Given the description of an element on the screen output the (x, y) to click on. 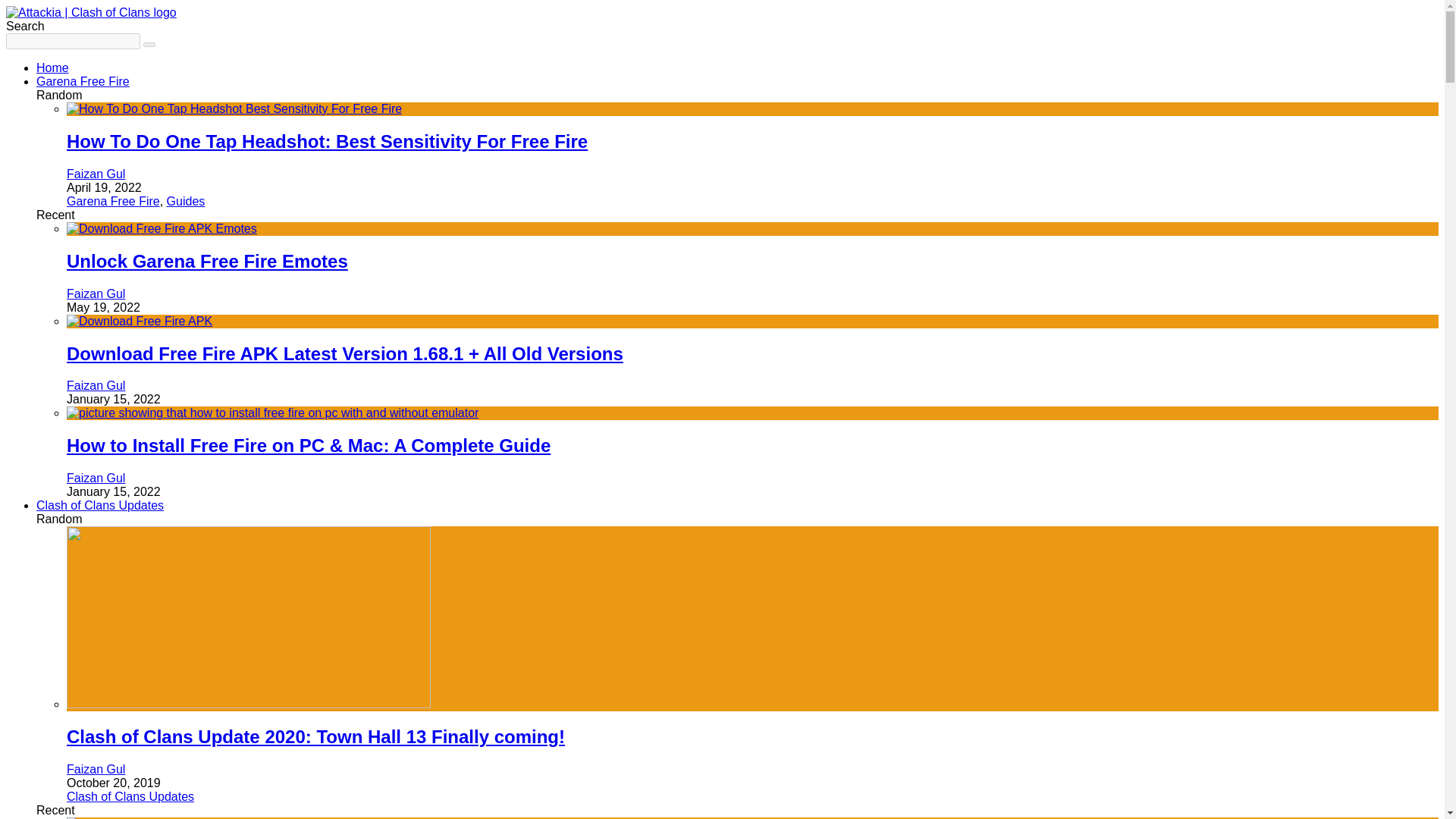
Faizan Gul (95, 477)
View all posts in Guides (186, 201)
Clash of Clans Updates (99, 504)
Home (52, 67)
Faizan Gul (95, 768)
Clash of Clans Updates (129, 796)
Faizan Gul (95, 173)
Garena Free Fire (113, 201)
Faizan Gul (95, 385)
Unlock Garena Free Fire Emotes (206, 260)
